Given the description of an element on the screen output the (x, y) to click on. 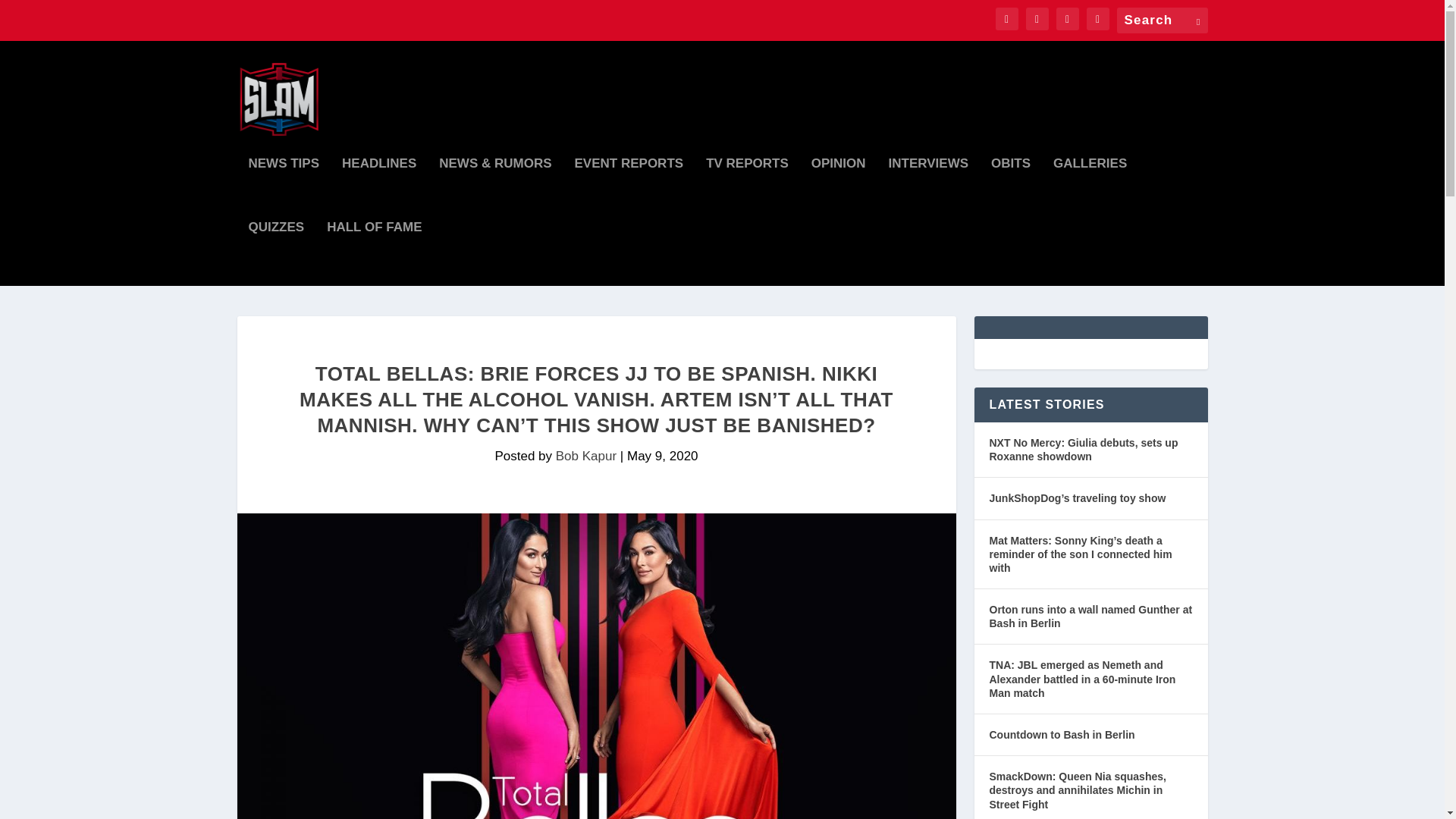
HEADLINES (379, 189)
HALL OF FAME (374, 253)
INTERVIEWS (928, 189)
Bob Kapur (585, 455)
TV REPORTS (747, 189)
EVENT REPORTS (629, 189)
Search for: (1161, 20)
Posts by Bob Kapur (585, 455)
NEWS TIPS (284, 189)
GALLERIES (1089, 189)
